Given the description of an element on the screen output the (x, y) to click on. 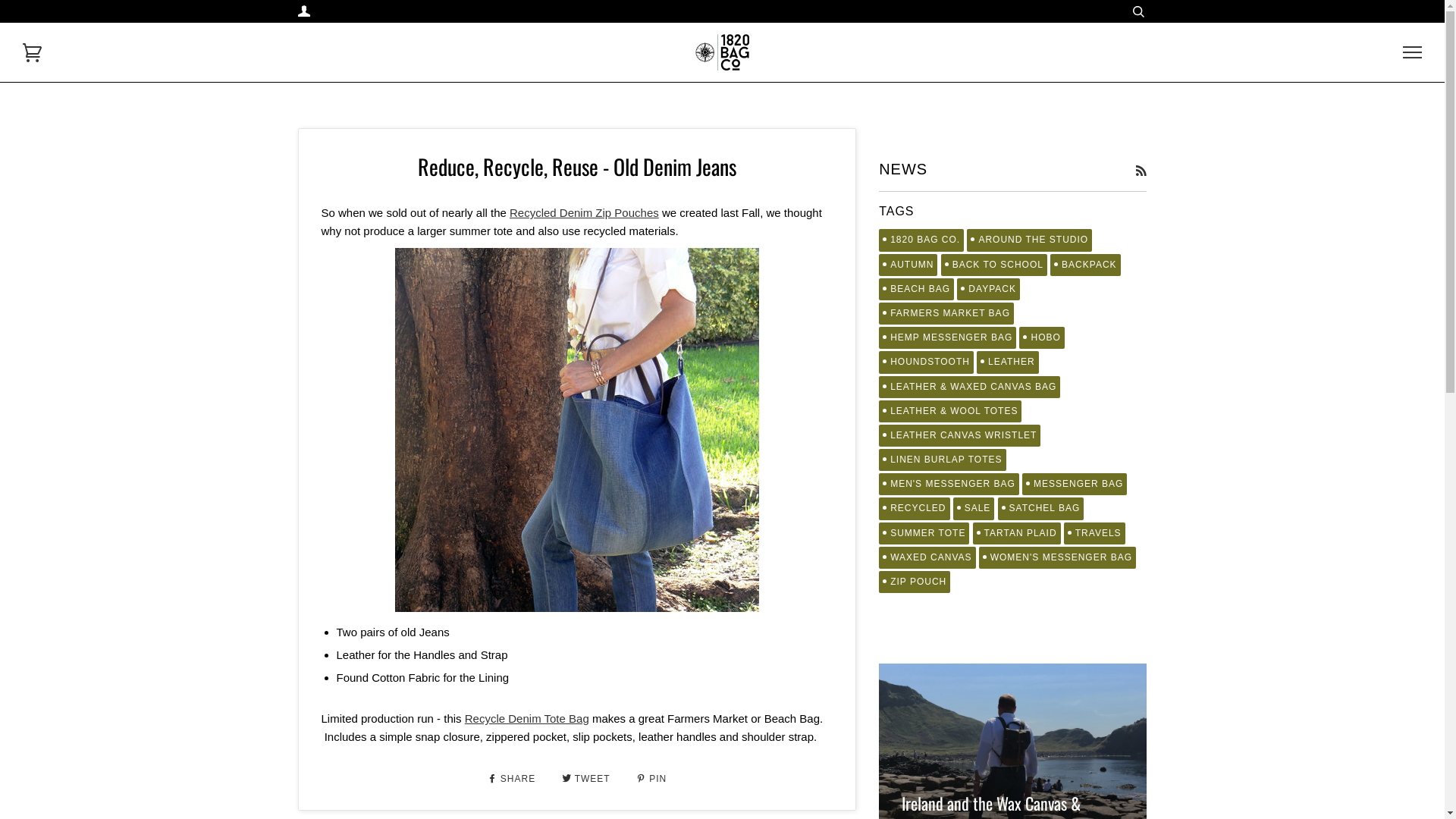
ZIP POUCH Element type: text (914, 582)
LEATHER CANVAS WRISTLET Element type: text (959, 435)
TWEET Element type: text (587, 778)
HEMP MESSENGER BAG Element type: text (947, 337)
DAYPACK Element type: text (988, 289)
BACK TO SCHOOL Element type: text (994, 265)
WOMEN'S MESSENGER BAG Element type: text (1057, 557)
TARTAN PLAID Element type: text (1016, 533)
PIN Element type: text (651, 778)
1820 BAG CO. Element type: text (920, 240)
RECYCLED Element type: text (913, 508)
RSS Element type: text (1140, 171)
MEN'S MESSENGER BAG Element type: text (948, 484)
LEATHER Element type: text (1007, 362)
BEACH BAG Element type: text (915, 289)
LEATHER & WOOL TOTES Element type: text (949, 411)
SHARE Element type: text (512, 778)
WAXED CANVAS Element type: text (926, 557)
TRAVELS Element type: text (1094, 533)
Recycle Denim Tote Bag Element type: text (526, 718)
HOBO Element type: text (1041, 337)
SATCHEL BAG Element type: text (1040, 508)
AUTUMN Element type: text (907, 265)
FARMERS MARKET BAG Element type: text (945, 313)
LINEN BURLAP TOTES Element type: text (941, 459)
AROUND THE STUDIO Element type: text (1029, 240)
SUMMER TOTE Element type: text (923, 533)
LEATHER & WAXED CANVAS BAG Element type: text (969, 387)
BACKPACK Element type: text (1085, 265)
Recycled Denim Zip Pouches Element type: text (583, 212)
MESSENGER BAG Element type: text (1074, 484)
Recycled Denim Leather Tote Element type: hover (577, 441)
SALE Element type: text (973, 508)
HOUNDSTOOTH Element type: text (925, 362)
